Given the description of an element on the screen output the (x, y) to click on. 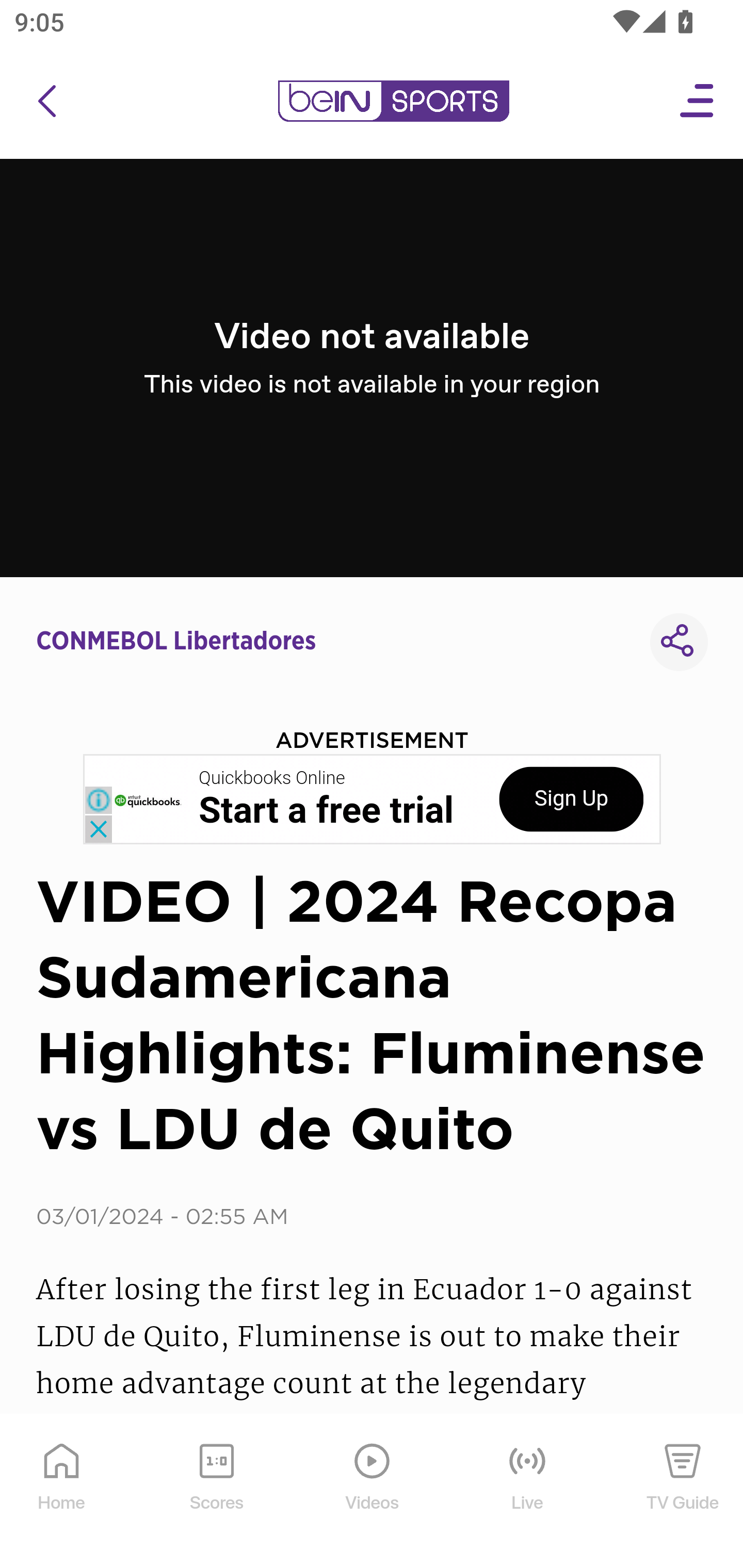
en-us?platform=mobile_android bein logo (392, 101)
icon back (46, 101)
Open Menu Icon (697, 101)
Quickbooks Online (272, 778)
Sign Up (571, 799)
Start a free trial (326, 810)
Home Home Icon Home (61, 1491)
Scores Scores Icon Scores (216, 1491)
Videos Videos Icon Videos (372, 1491)
TV Guide TV Guide Icon TV Guide (682, 1491)
